Given the description of an element on the screen output the (x, y) to click on. 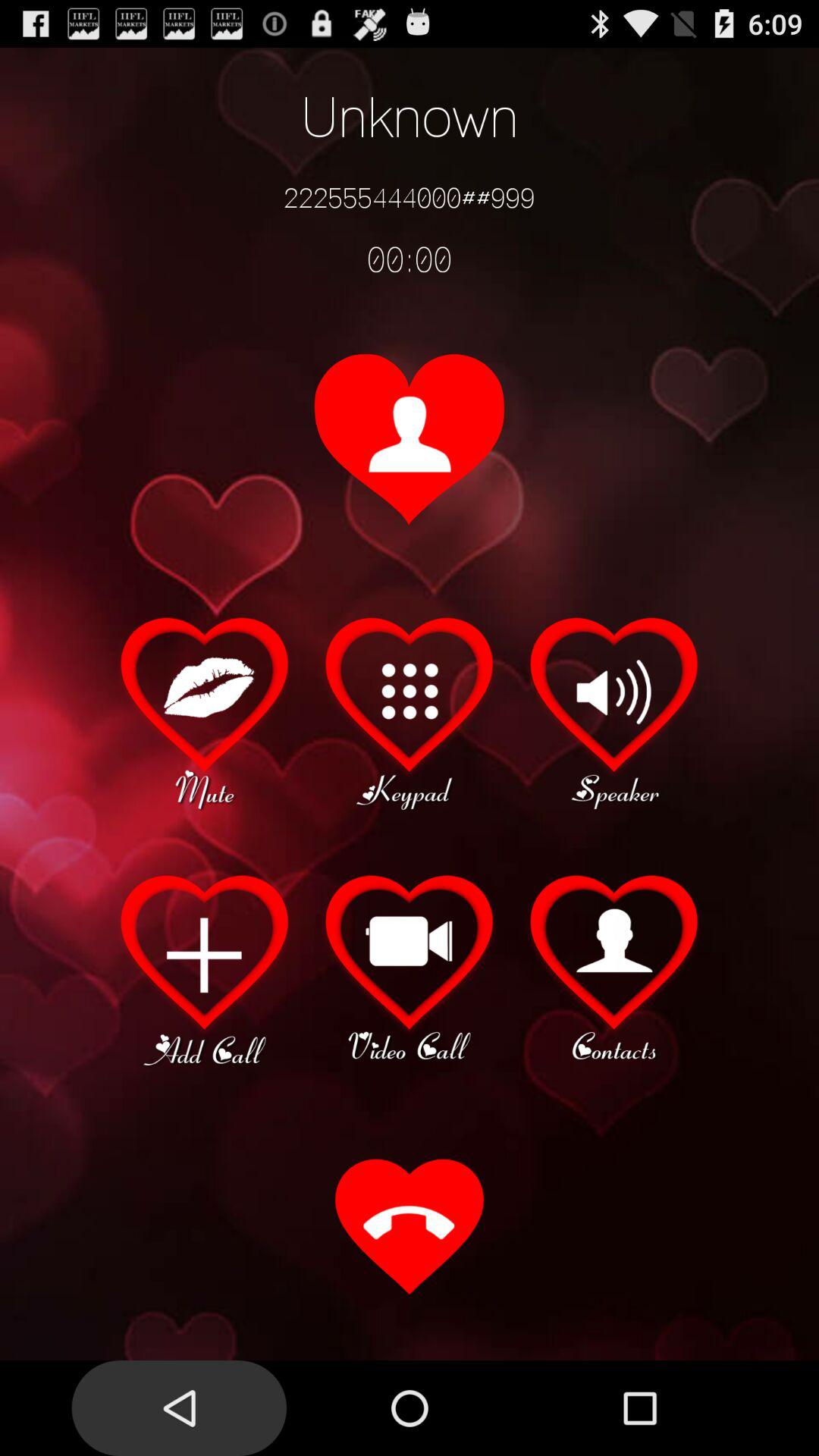
keypad option (409, 711)
